Given the description of an element on the screen output the (x, y) to click on. 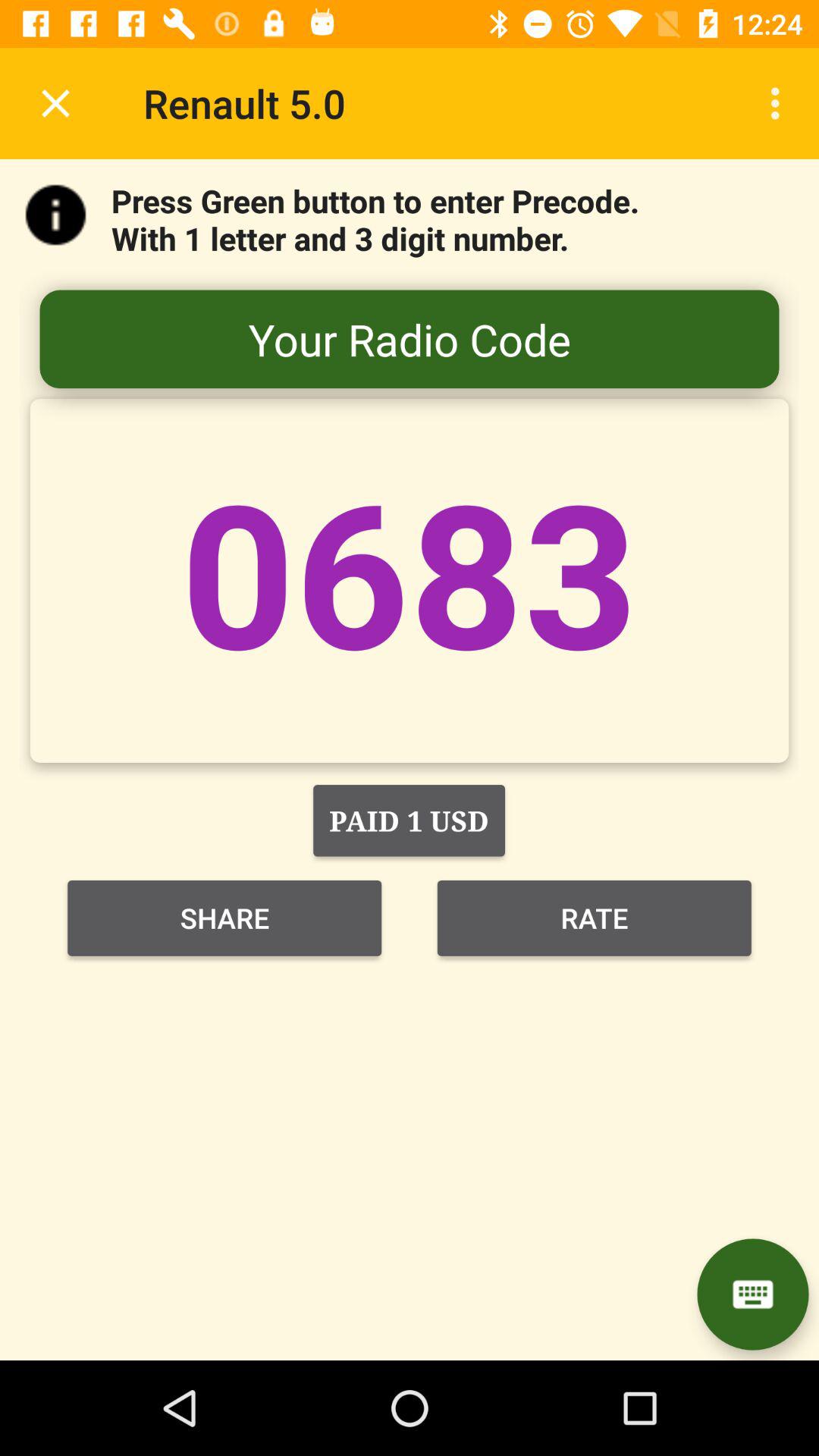
choose the rate item (594, 918)
